Given the description of an element on the screen output the (x, y) to click on. 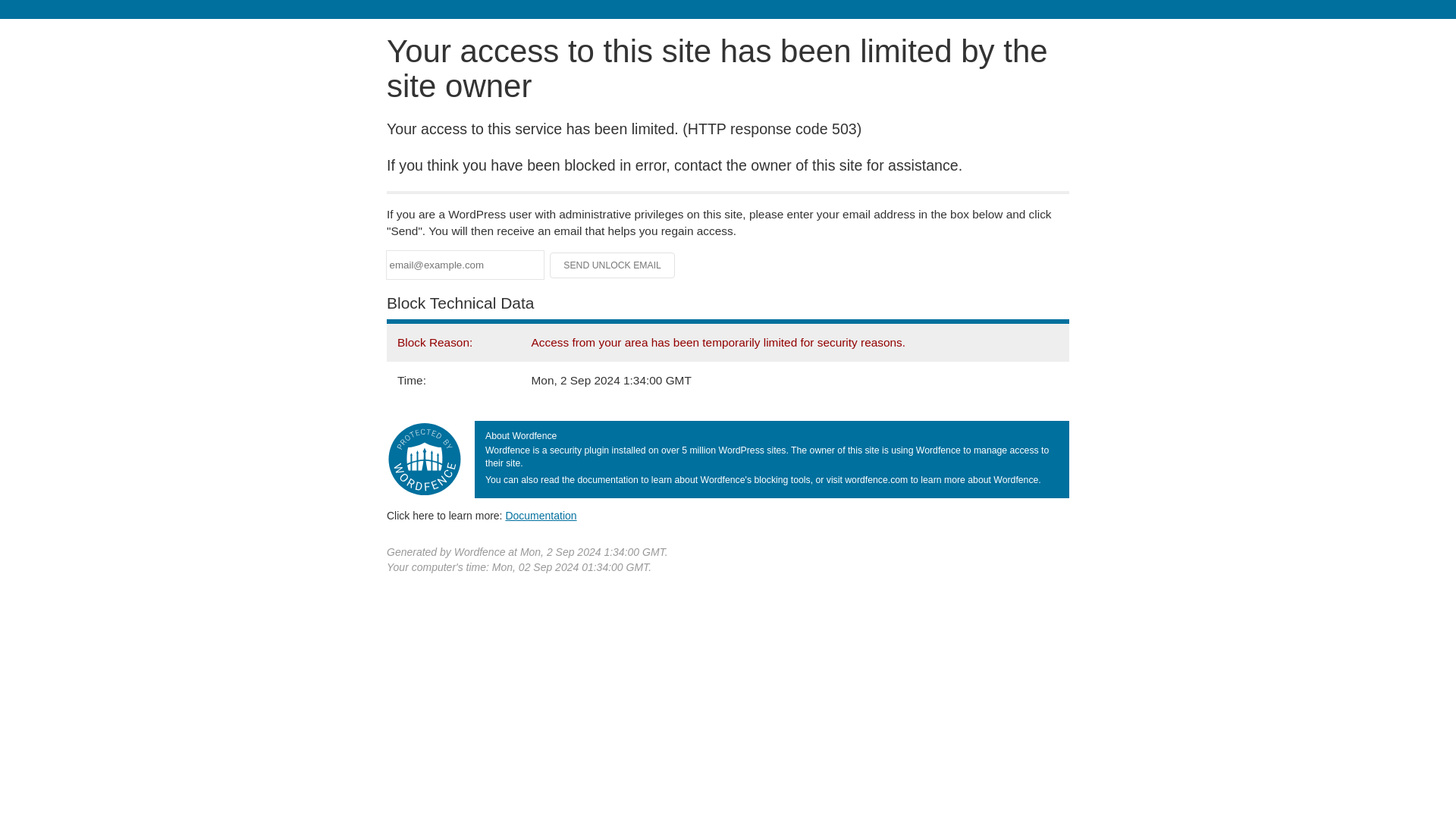
Send Unlock Email (612, 265)
Documentation (540, 515)
Send Unlock Email (612, 265)
